Given the description of an element on the screen output the (x, y) to click on. 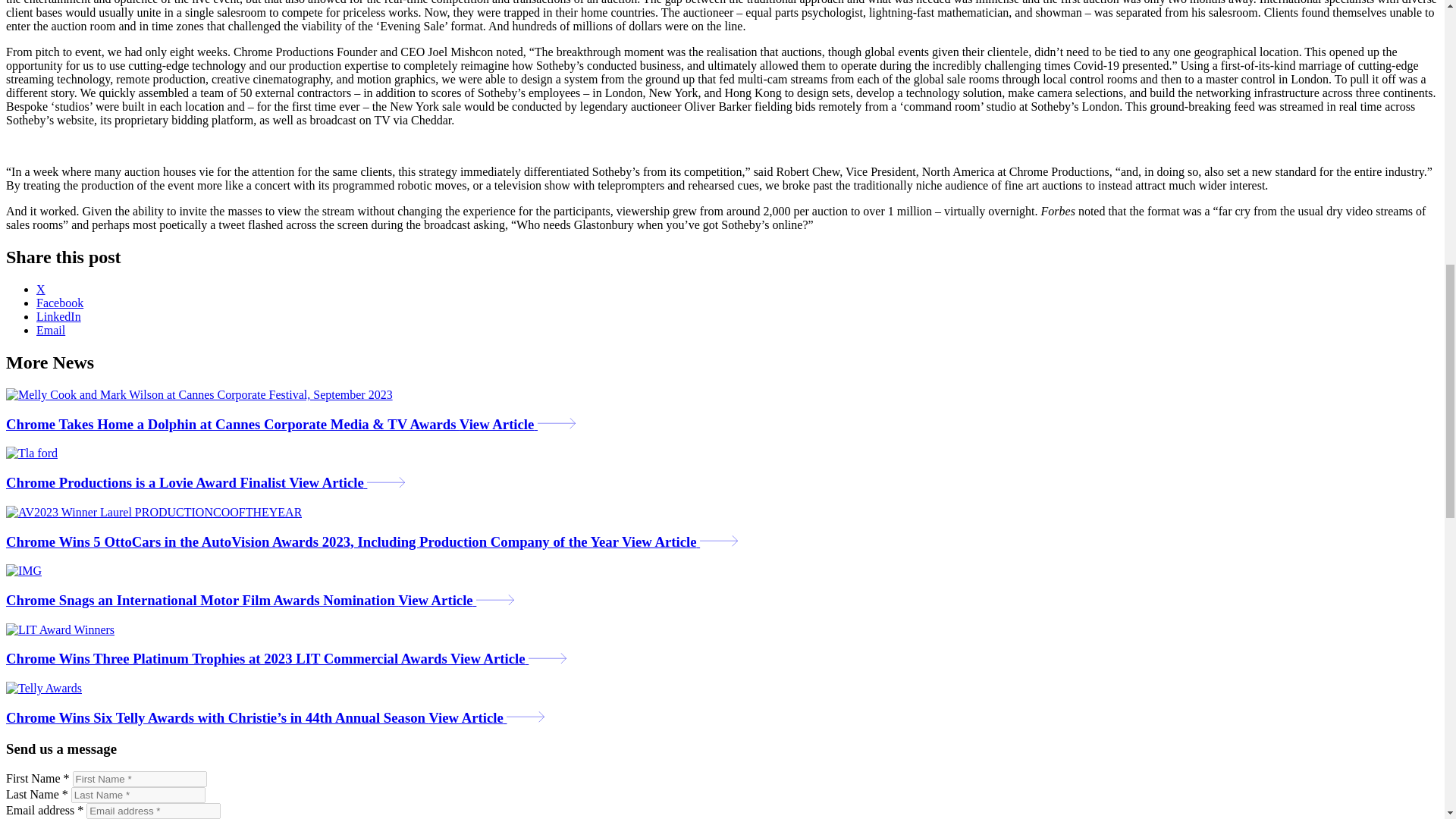
LinkedIn (58, 316)
Email (50, 329)
Facebook (59, 302)
